Given the description of an element on the screen output the (x, y) to click on. 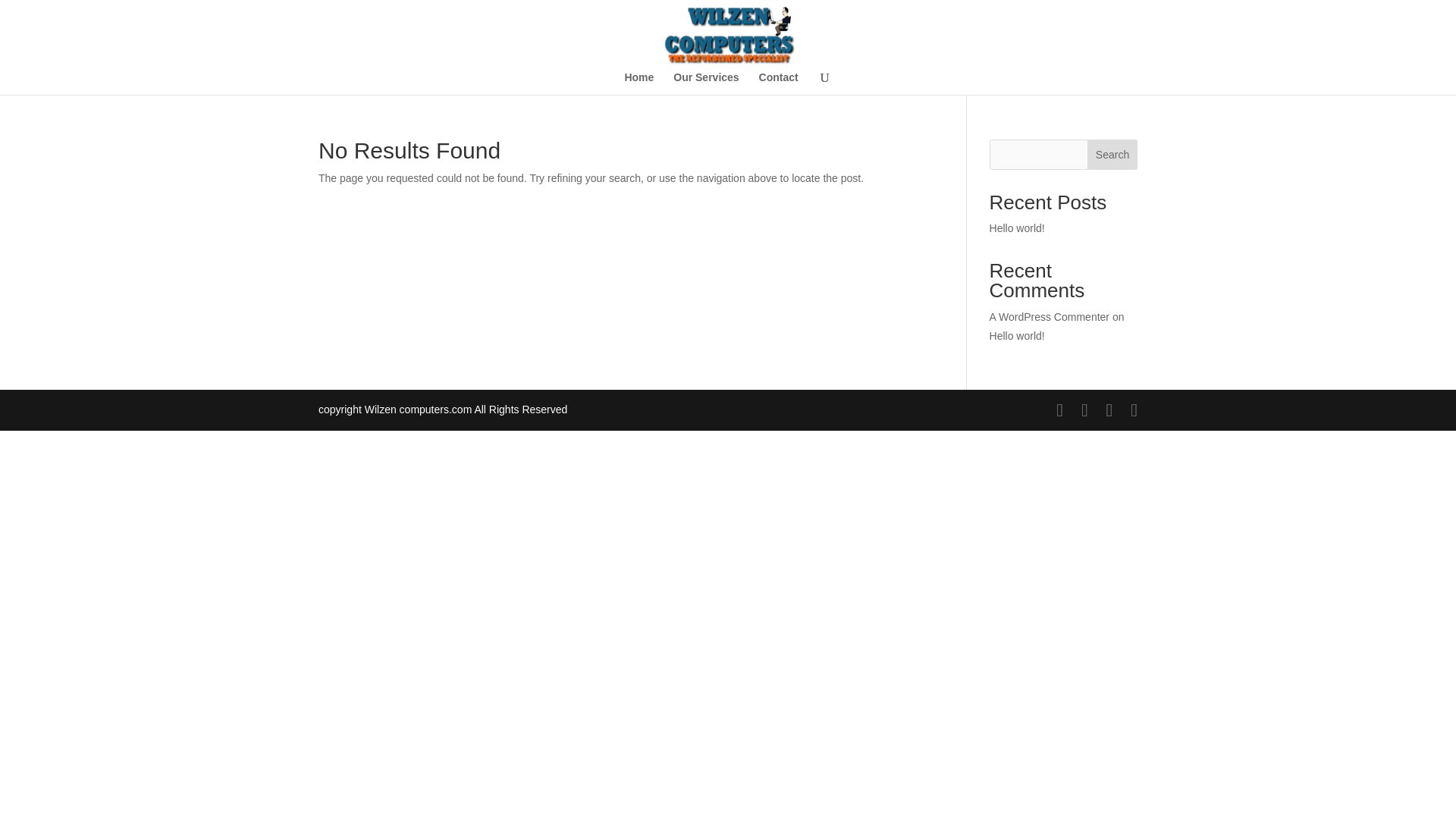
Hello world! (1017, 227)
A WordPress Commenter (1049, 316)
Home (638, 83)
Hello world! (1017, 336)
Contact (777, 83)
Our Services (705, 83)
Search (1112, 154)
